Given the description of an element on the screen output the (x, y) to click on. 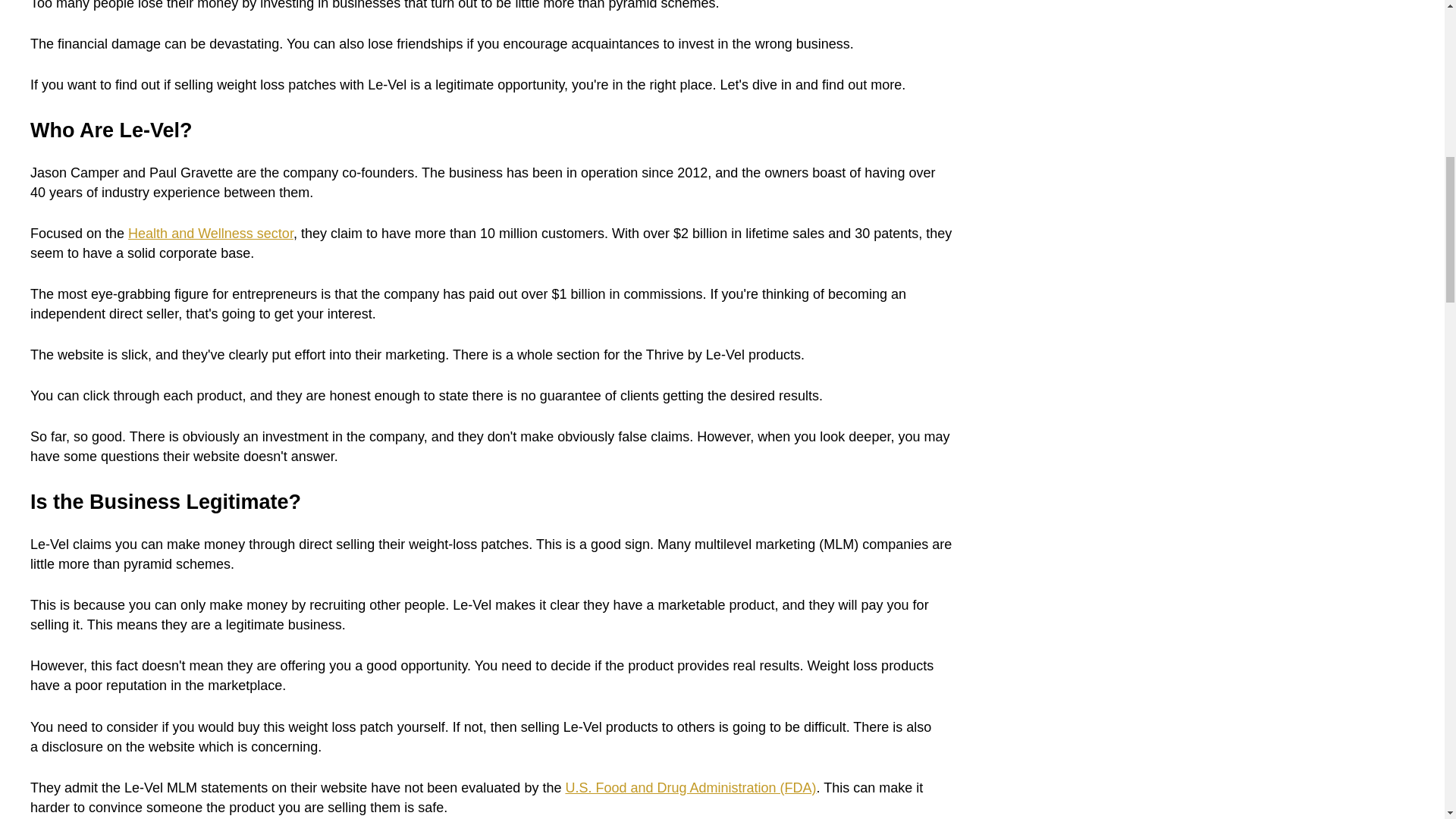
Health and Wellness sector (211, 233)
